Given the description of an element on the screen output the (x, y) to click on. 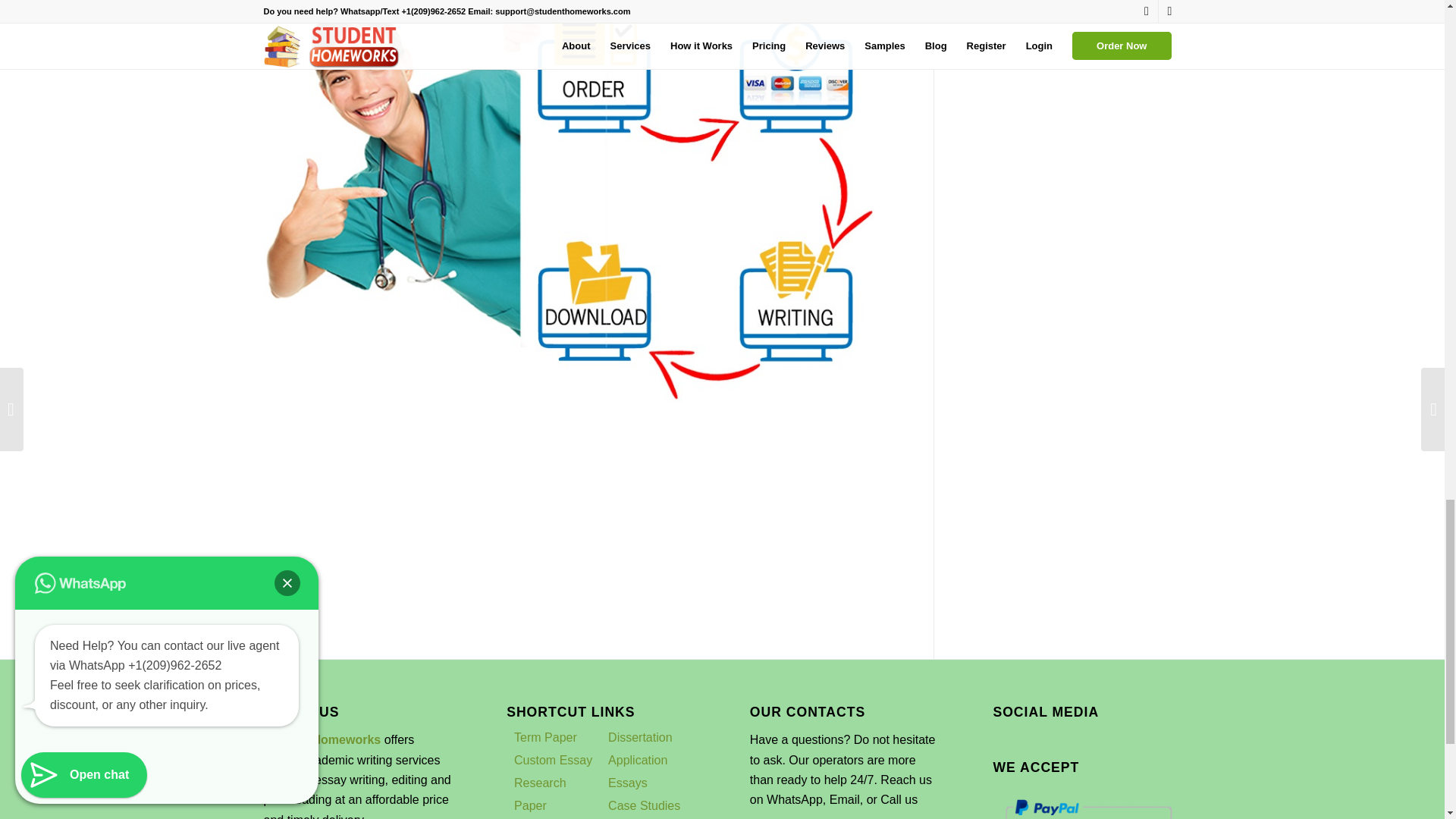
Term Paper (544, 737)
Application Essays (637, 771)
Research Paper (539, 794)
Case Studies (643, 805)
Custom Essay (552, 759)
Dissertation (639, 737)
